Given the description of an element on the screen output the (x, y) to click on. 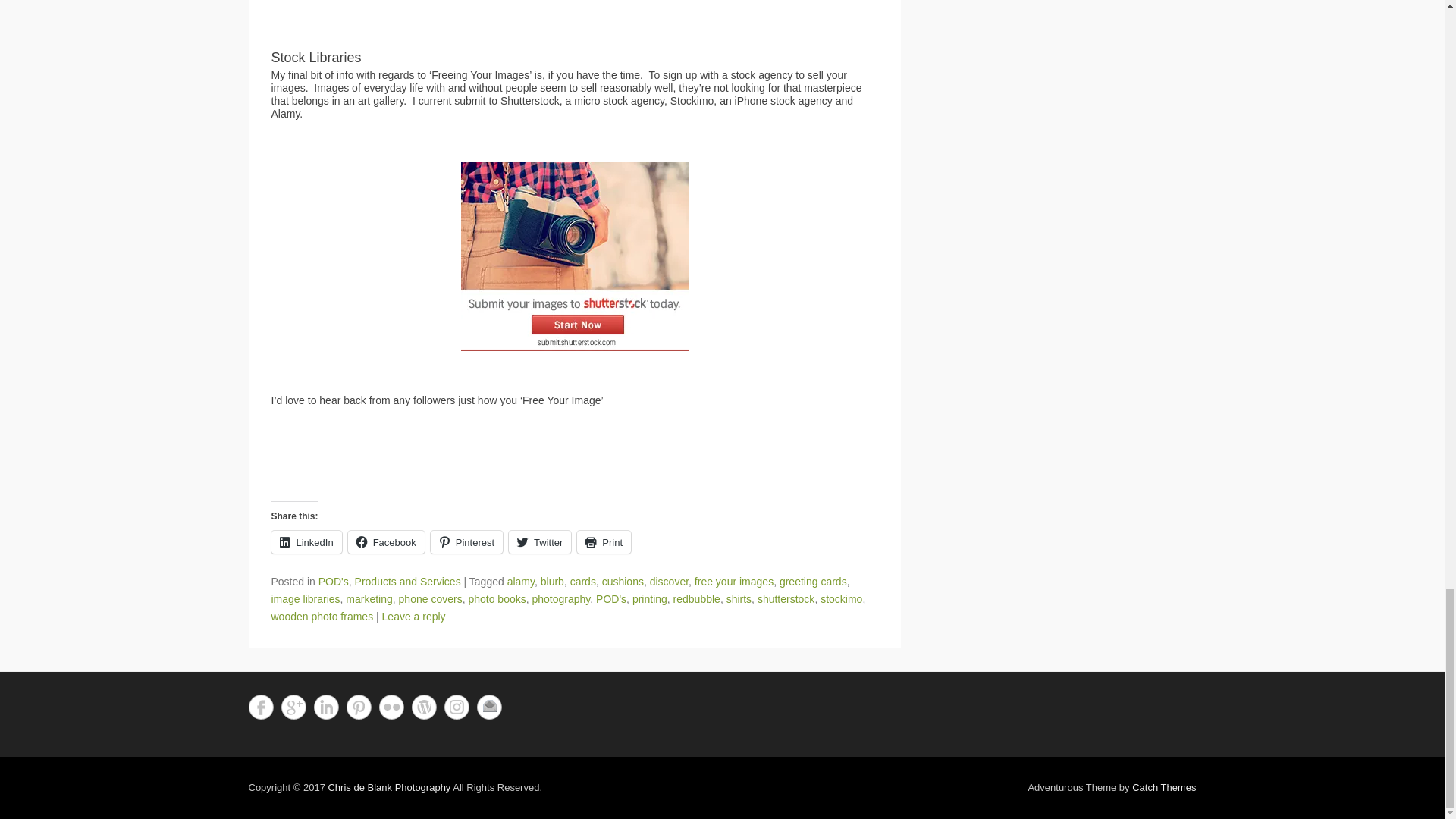
Click to share on Facebook (386, 541)
Click to share on Twitter (539, 541)
Click to print (603, 541)
Click to share on Pinterest (466, 541)
Click to share on LinkedIn (306, 541)
